Given the description of an element on the screen output the (x, y) to click on. 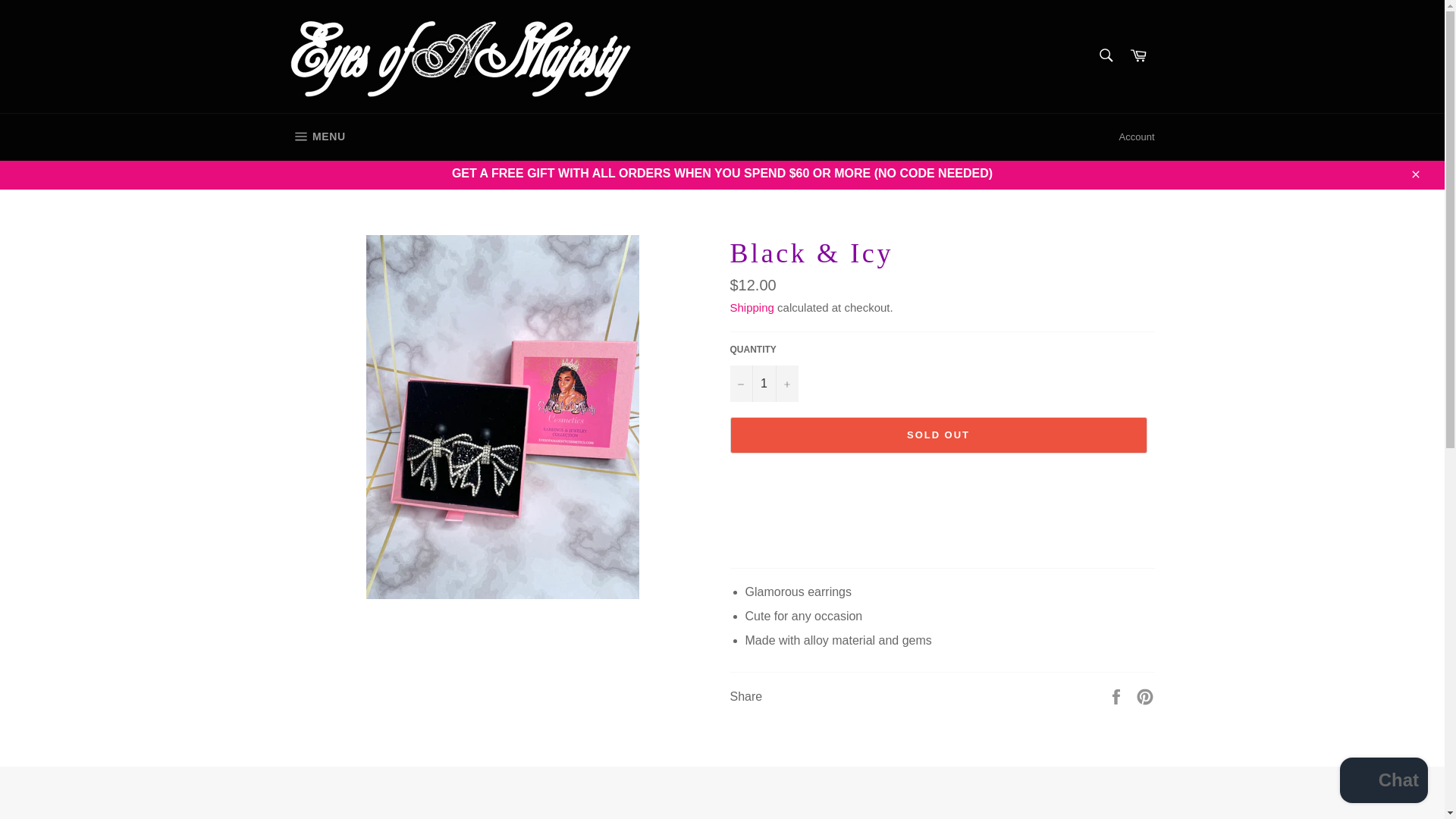
Search (1104, 55)
Share on Facebook (1117, 695)
Shopify online store chat (1383, 781)
Cart (317, 136)
Pin on Pinterest (1138, 56)
1 (1144, 695)
